Given the description of an element on the screen output the (x, y) to click on. 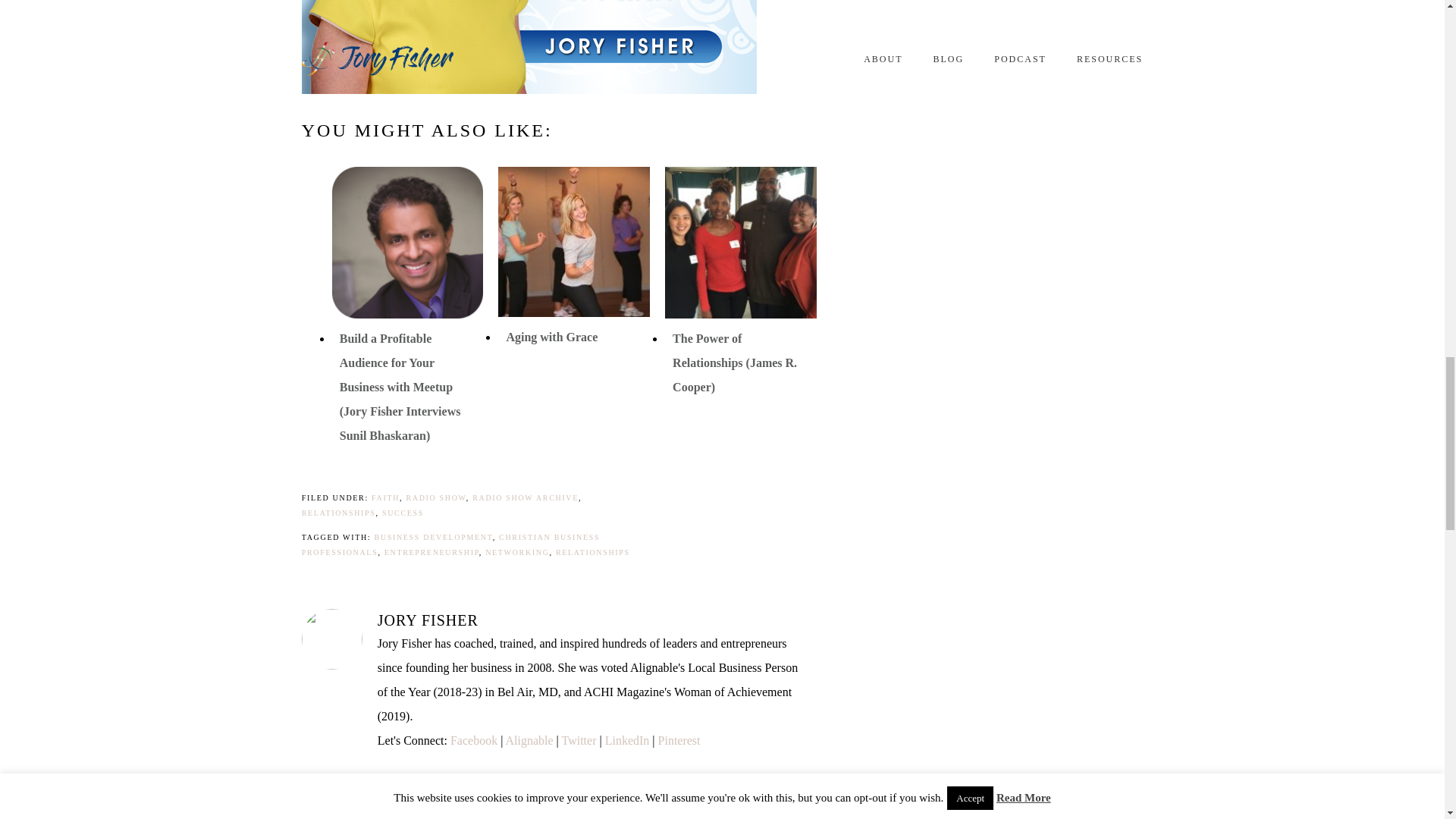
Aging with Grace (550, 336)
FAITH (384, 497)
